Given the description of an element on the screen output the (x, y) to click on. 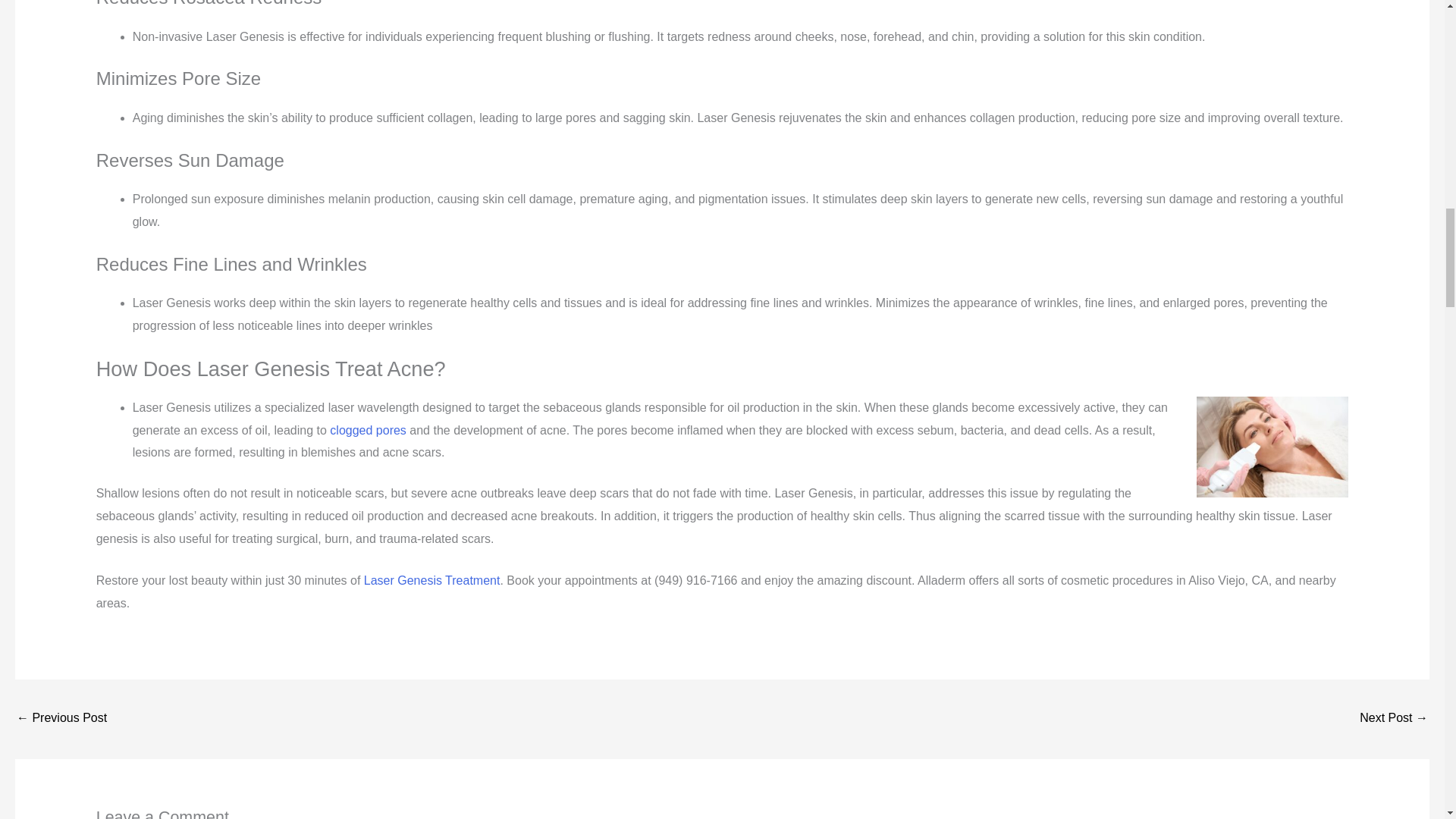
What Is Xeomin And How Does It Work? (61, 719)
Understanding The Causes And Treatment Of Double Chin (1393, 719)
